Given the description of an element on the screen output the (x, y) to click on. 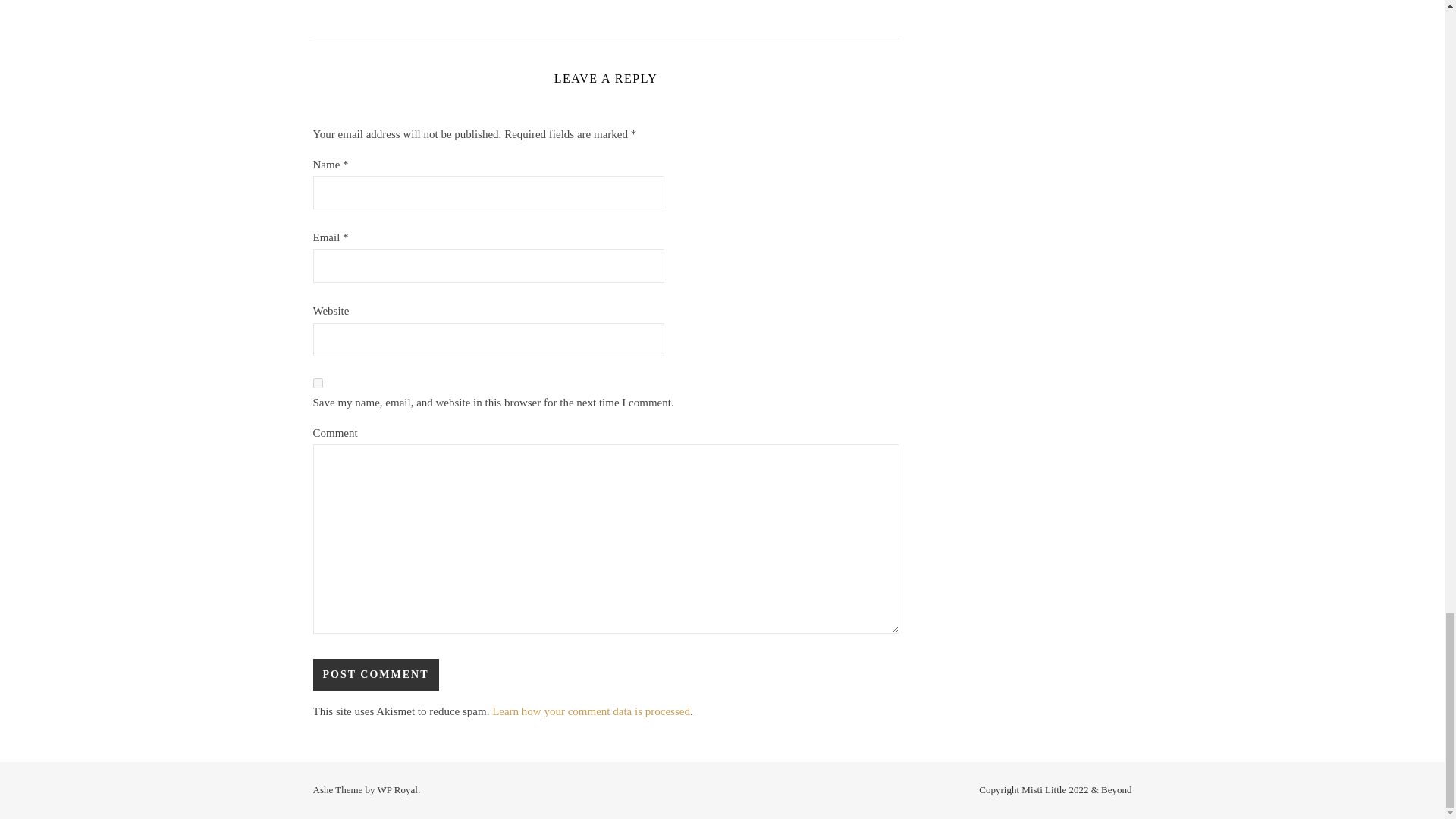
Learn how your comment data is processed (591, 711)
Post Comment (375, 675)
Post Comment (375, 675)
yes (317, 383)
